Given the description of an element on the screen output the (x, y) to click on. 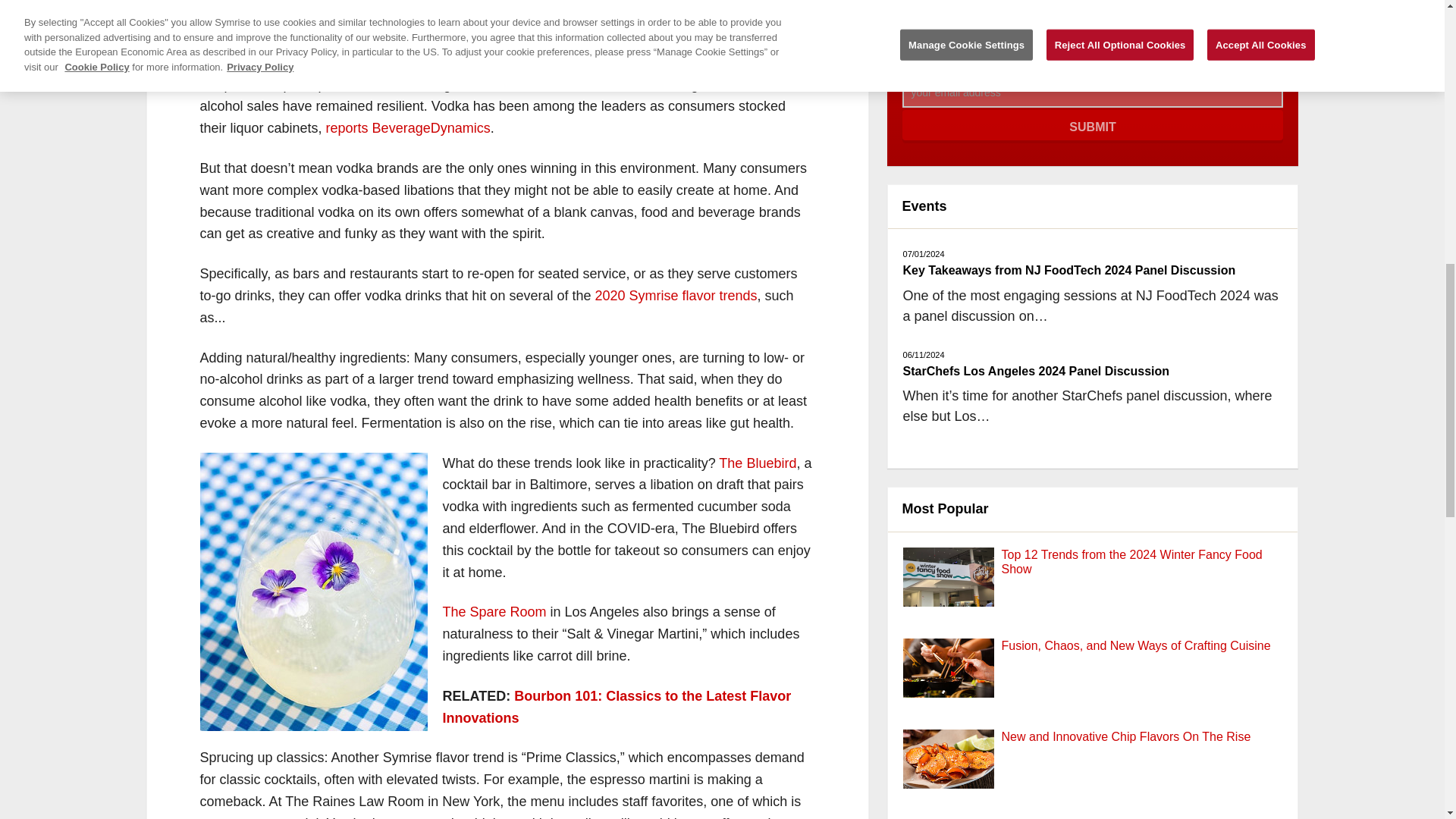
Top 12 Trends from the 2024 Winter Fancy Food Show (1131, 561)
The Spare Room (494, 611)
Opens external link in new window (494, 611)
submit (1093, 126)
reports BeverageDynamics (408, 127)
Opens external link in new window (408, 127)
The Bluebird (757, 462)
2020 Symrise flavor trends (675, 295)
Key Takeaways from NJ FoodTech 2024 Panel Discussion (1069, 269)
Key Takeaways from NJ FoodTech 2024 Panel Discussion (1069, 269)
New and Innovative Chip Flavors On The Rise (1125, 736)
Opens external link in new window (757, 462)
Opens external link in new window (675, 295)
submit (1093, 126)
Opens external link in new window (617, 706)
